Given the description of an element on the screen output the (x, y) to click on. 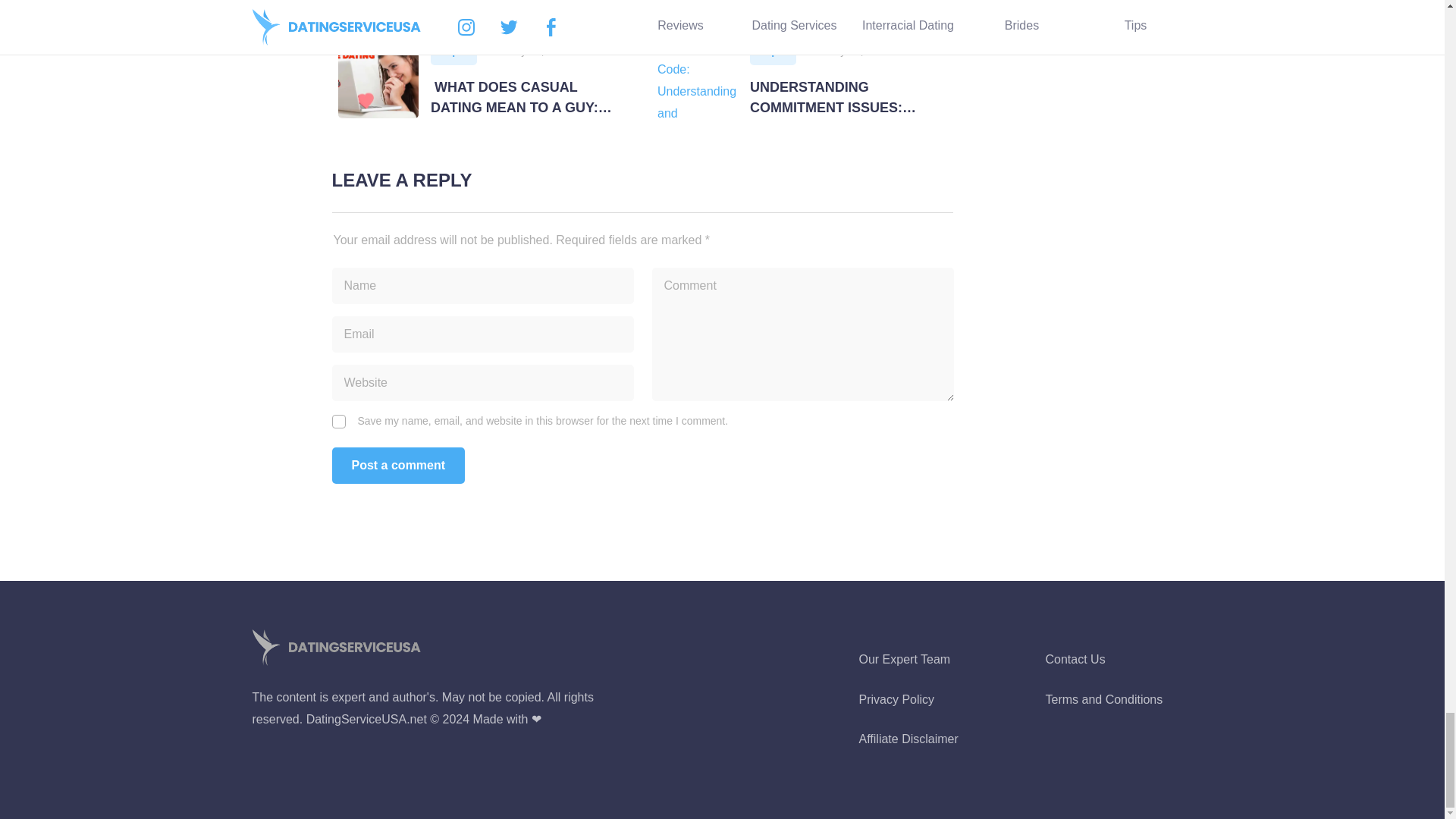
Post a comment (802, 6)
